Given the description of an element on the screen output the (x, y) to click on. 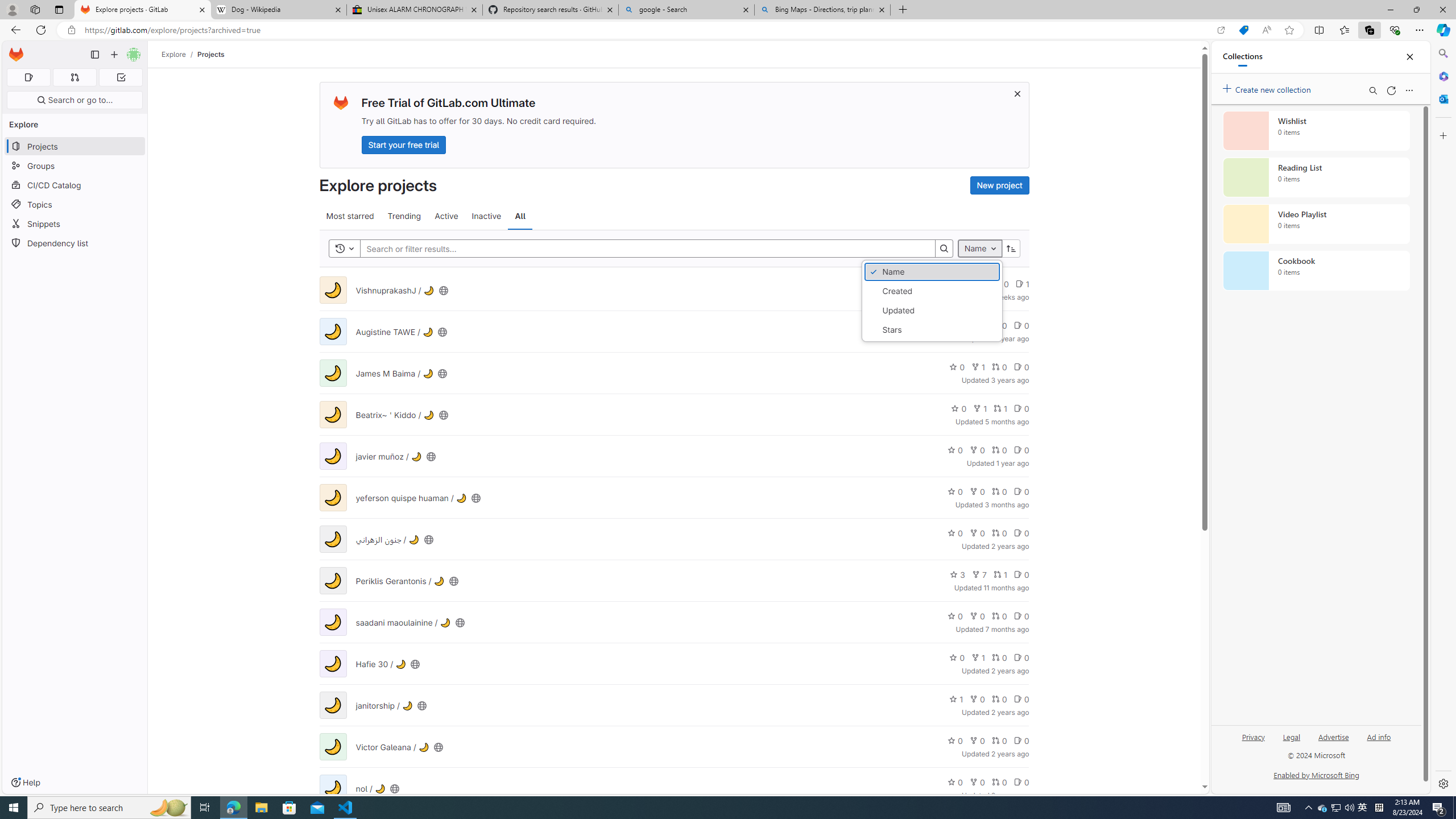
Create new collection (1268, 87)
Cookbook collection, 0 items (1316, 270)
To-Do list 0 (120, 76)
